Given the description of an element on the screen output the (x, y) to click on. 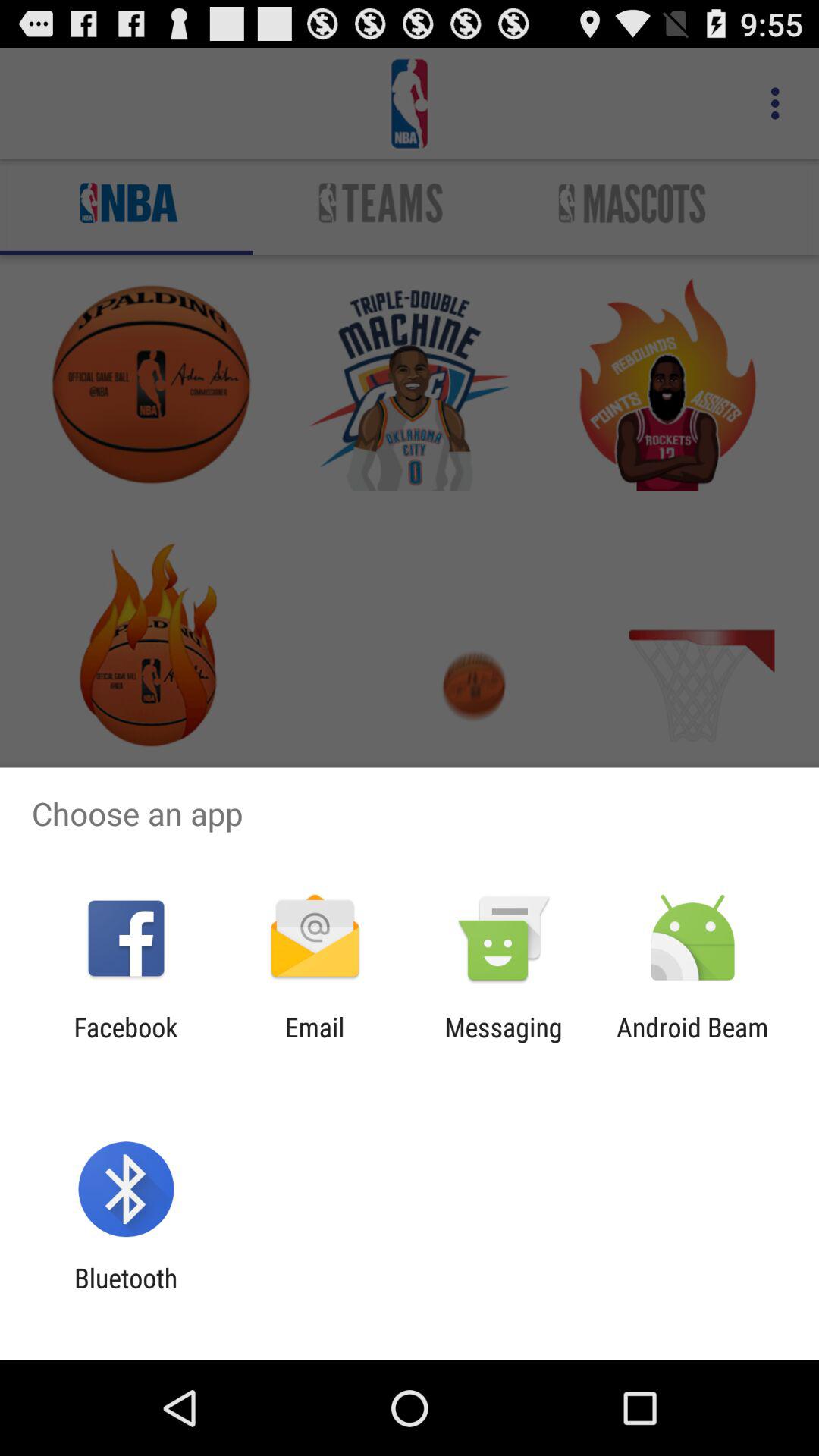
click the item to the right of email app (503, 1042)
